Given the description of an element on the screen output the (x, y) to click on. 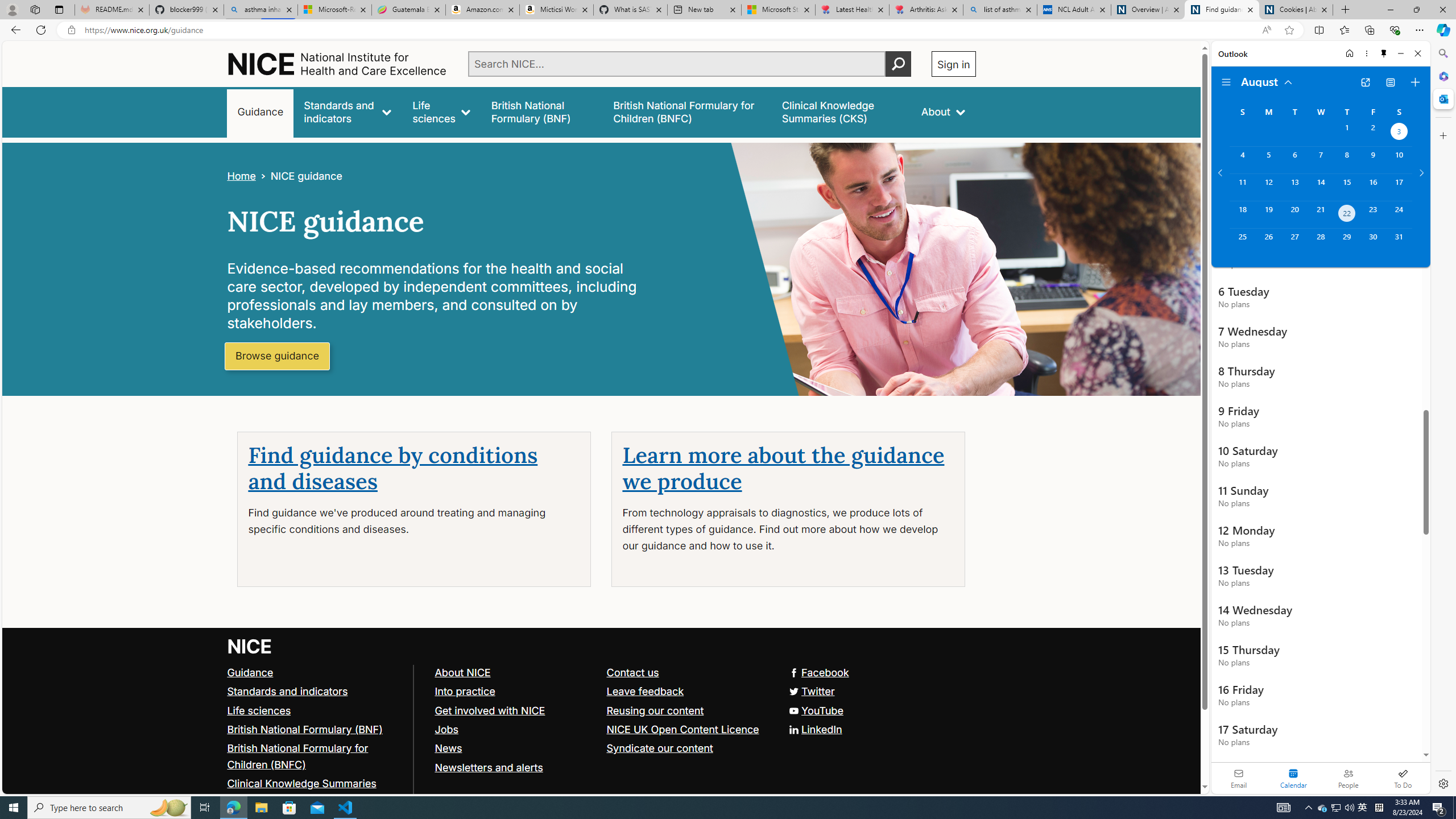
Facebook (601, 672)
News (514, 747)
Side bar (1443, 418)
Sunday, August 25, 2024.  (1242, 241)
Tuesday, August 20, 2024.  (1294, 214)
August (1267, 80)
Guidance (250, 671)
Close Outlook pane (1442, 98)
Contact us (632, 671)
NICE UK Open Content Licence (686, 729)
Thursday, August 8, 2024.  (1346, 159)
Add this page to favorites (Ctrl+D) (1289, 29)
Go to NICE home page (250, 645)
